Given the description of an element on the screen output the (x, y) to click on. 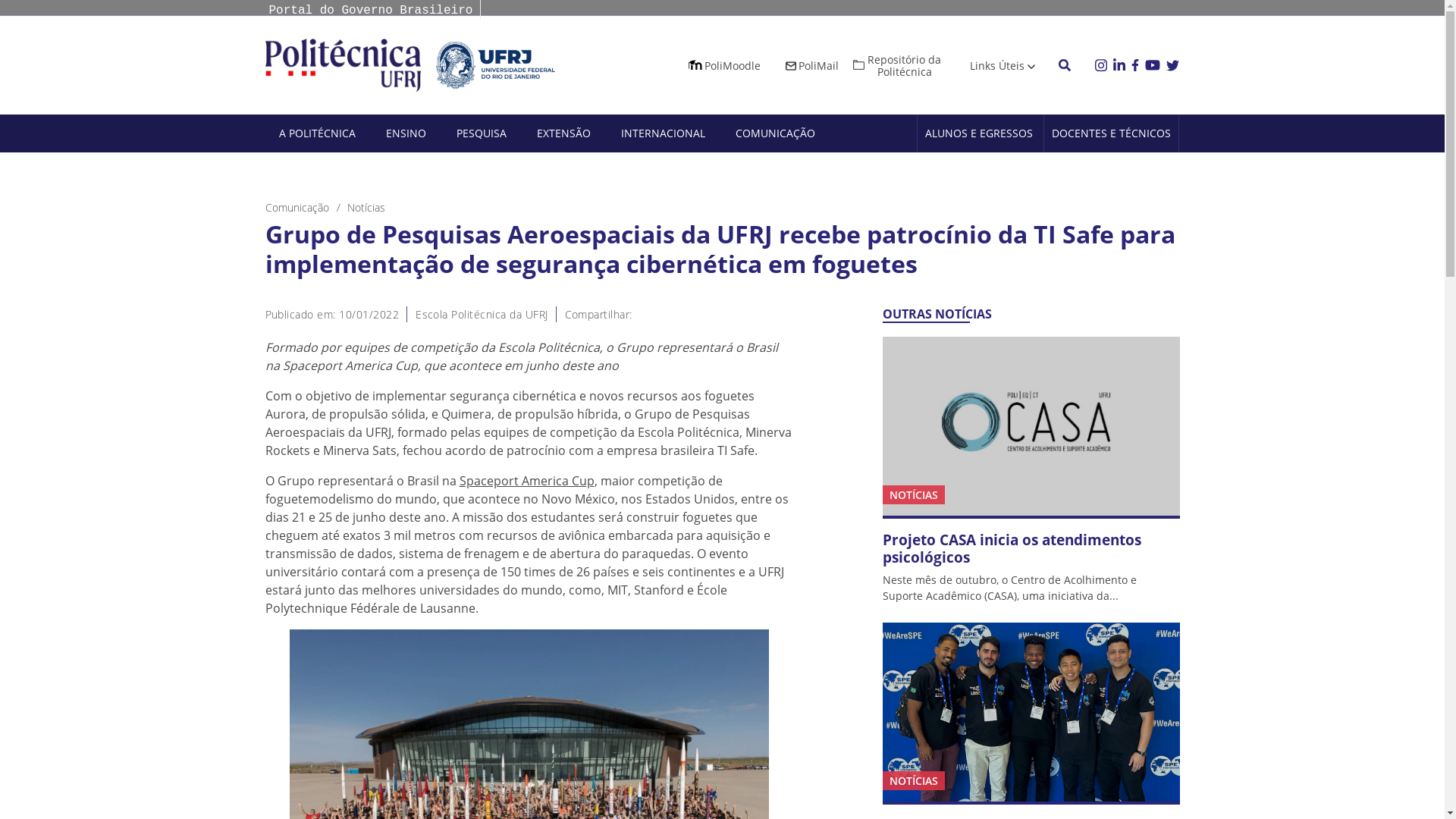
PoliMoodle Element type: text (723, 65)
Spaceport America Cup Element type: text (526, 480)
Portal do Governo Brasileiro Element type: text (370, 10)
ALUNOS E EGRESSOS Element type: text (978, 133)
ENSINO Element type: text (405, 133)
PESQUISA Element type: text (481, 133)
INTERNACIONAL Element type: text (662, 133)
PoliMail Element type: text (811, 65)
